Given the description of an element on the screen output the (x, y) to click on. 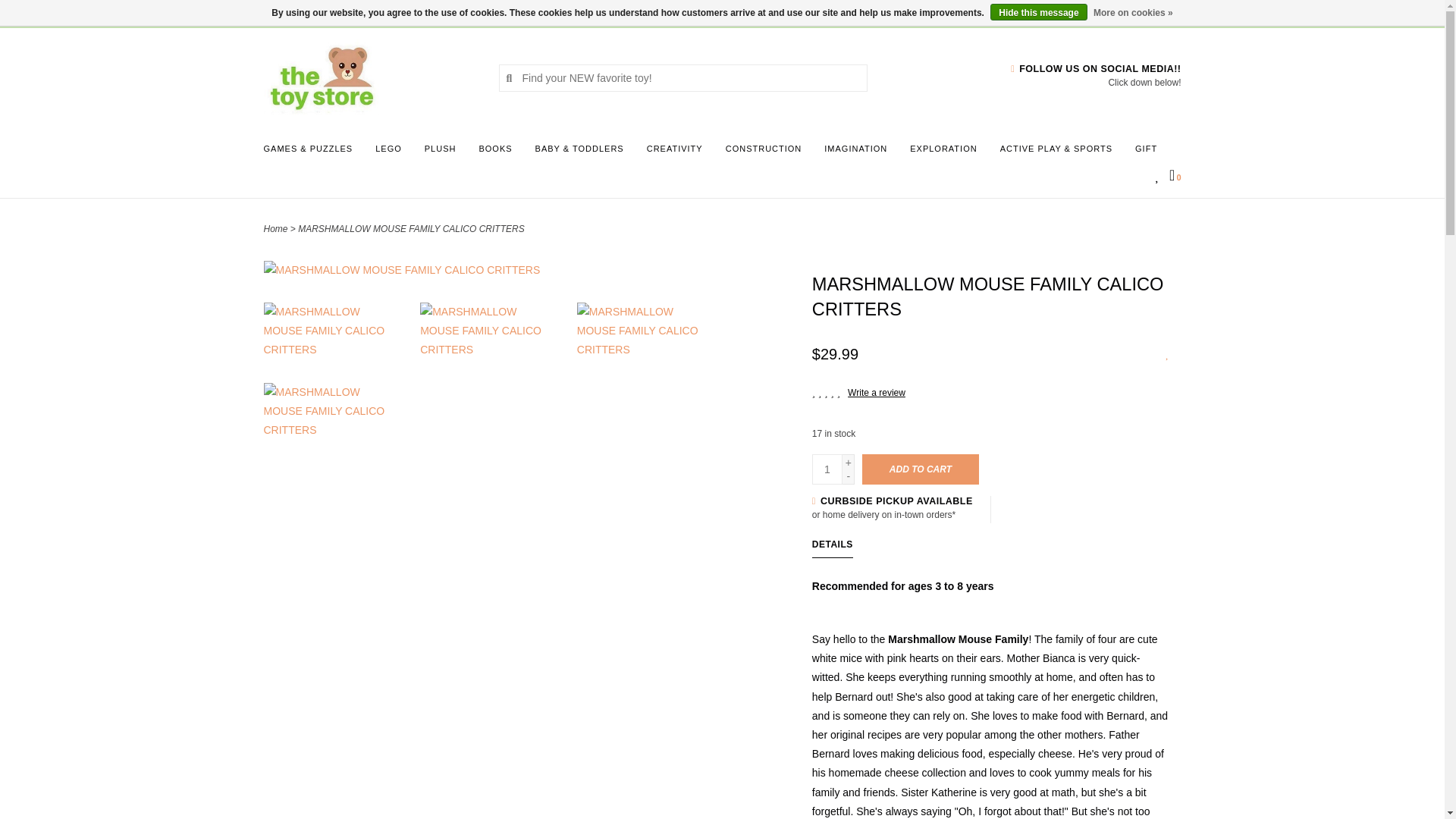
Login (390, 12)
1 (827, 468)
Currency (282, 12)
Contact us (341, 12)
Locations (1152, 12)
My account (390, 12)
THE TOY STORE (369, 77)
LEGO (392, 152)
